Given the description of an element on the screen output the (x, y) to click on. 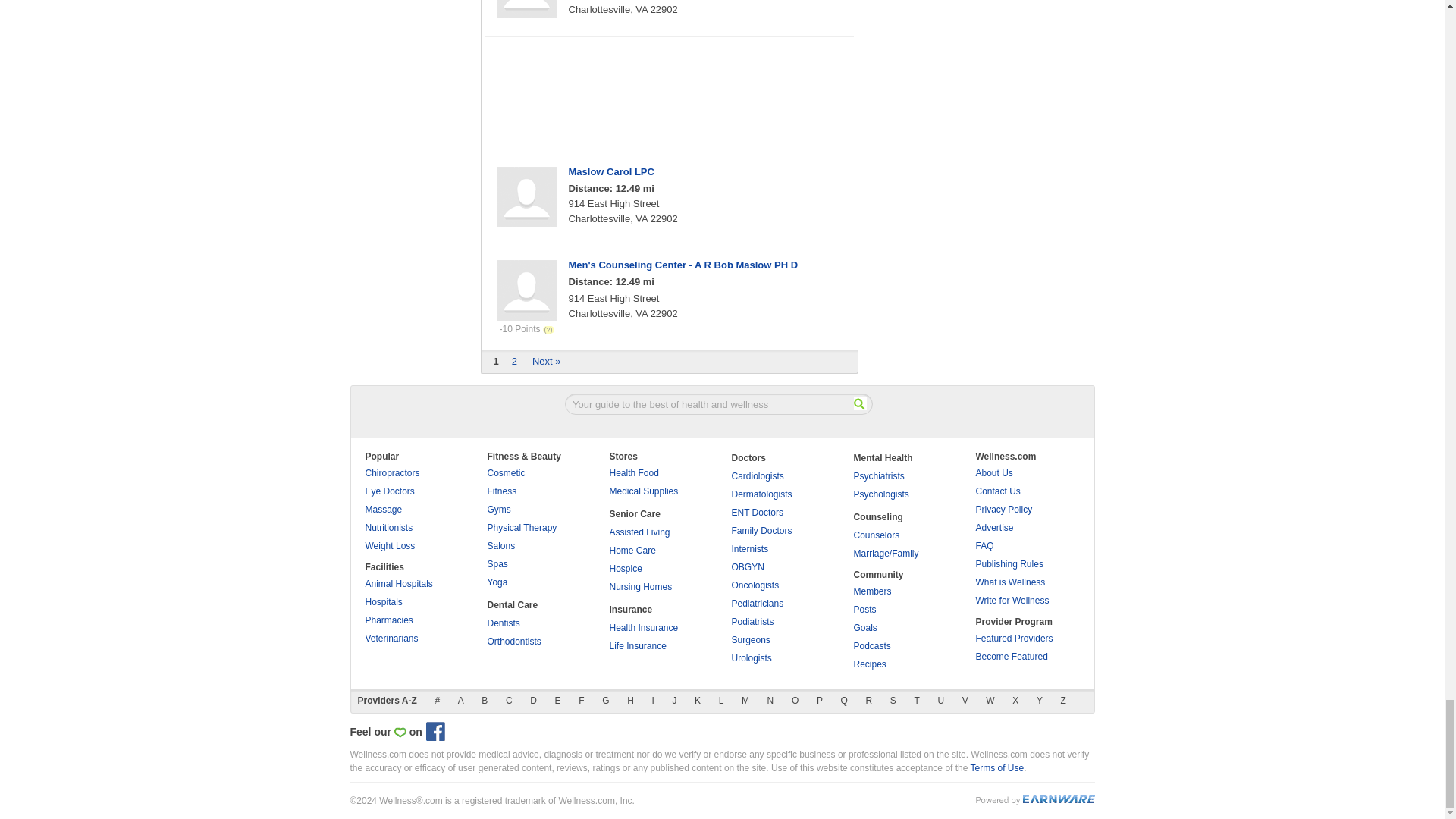
Your guide to the best of health and wellness (718, 403)
Your guide to the best of health and wellness (718, 403)
